Given the description of an element on the screen output the (x, y) to click on. 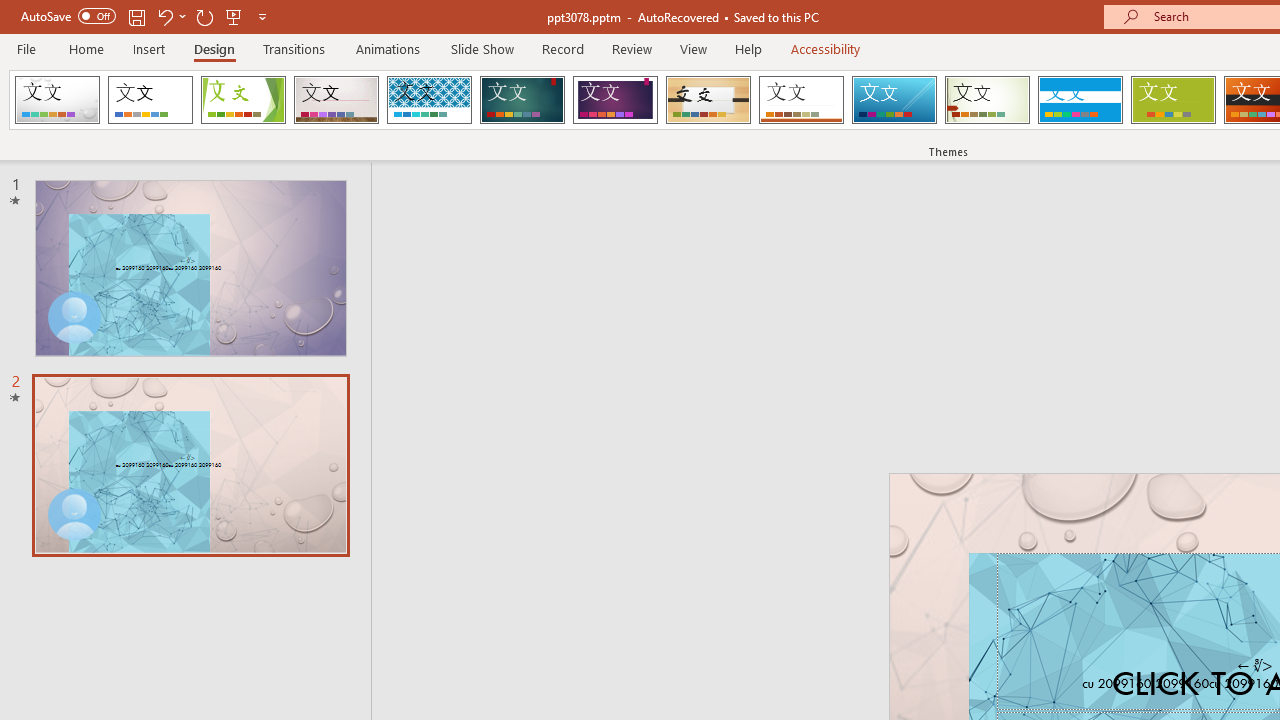
Slice (893, 100)
Retrospect (801, 100)
Basis (1172, 100)
Facet (243, 100)
Banded (1080, 100)
